Given the description of an element on the screen output the (x, y) to click on. 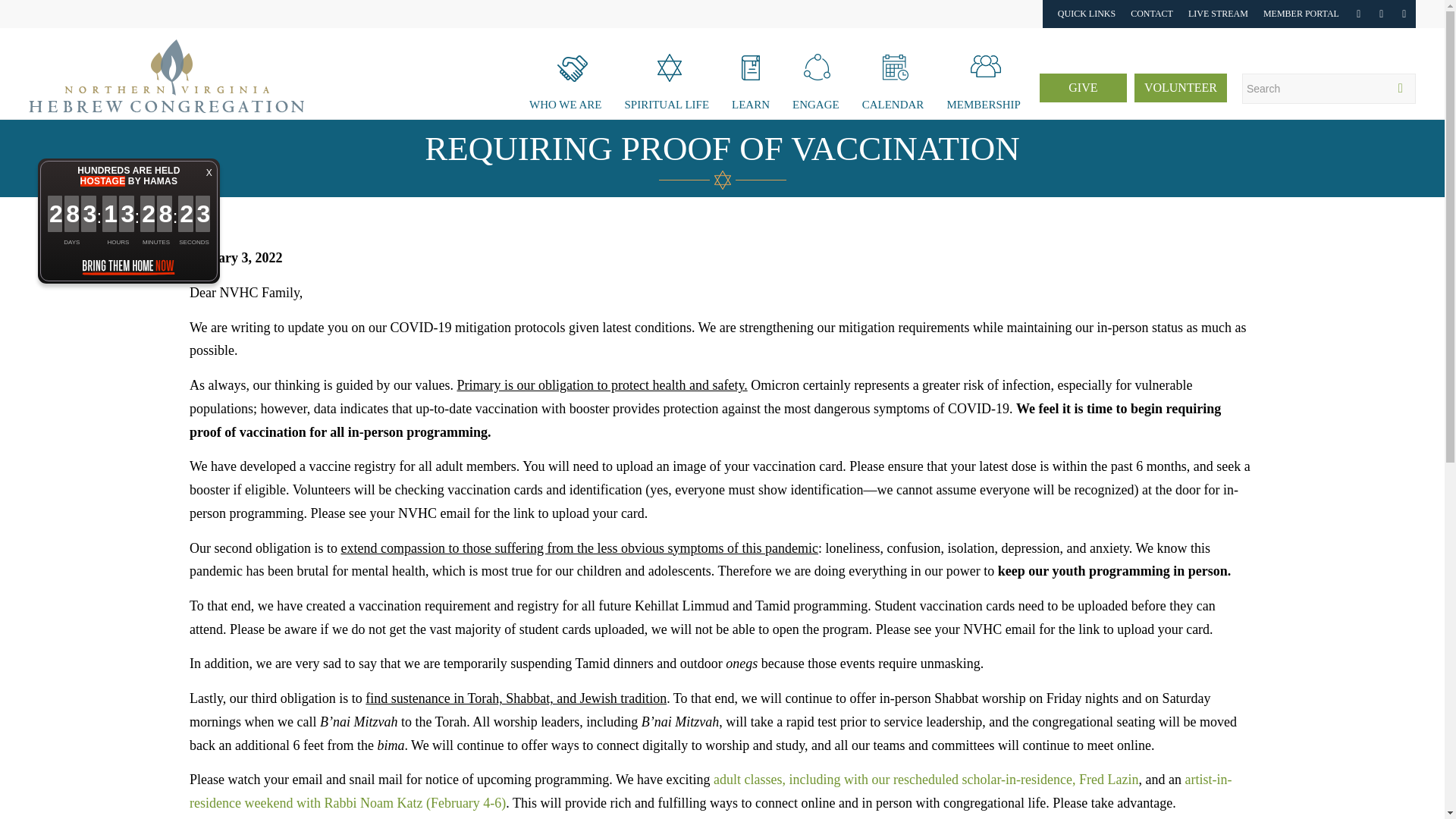
CONTACT (1152, 13)
QUICK LINKS (1086, 13)
SPIRITUAL LIFE (666, 72)
WHO WE ARE (565, 72)
LIVE STREAM (1217, 13)
Permanent Link: Requiring Proof of Vaccination (722, 148)
MEMBER PORTAL (1301, 13)
